Given the description of an element on the screen output the (x, y) to click on. 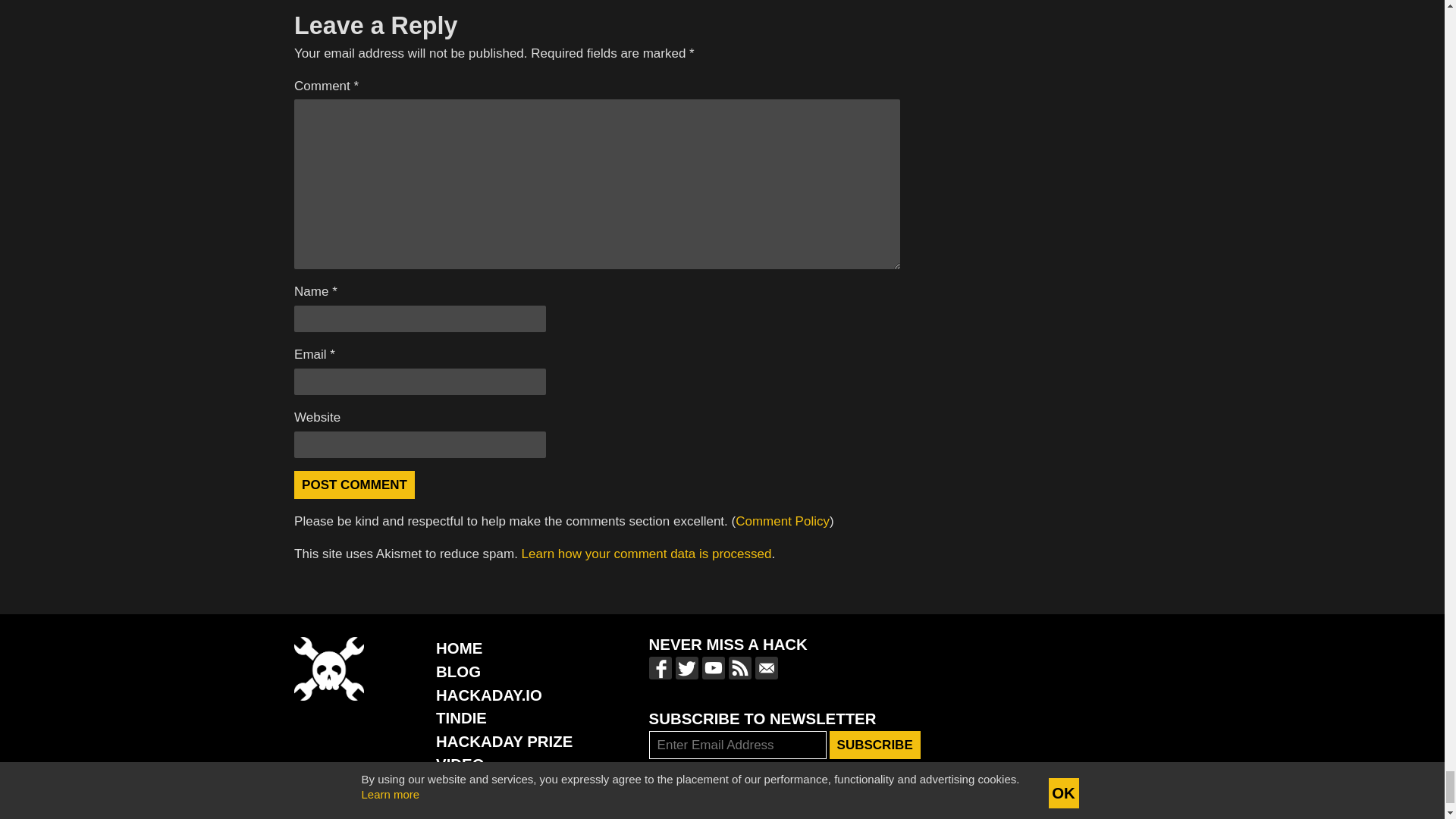
Subscribe (874, 745)
Post Comment (354, 484)
Build Something that Matters (503, 741)
